Given the description of an element on the screen output the (x, y) to click on. 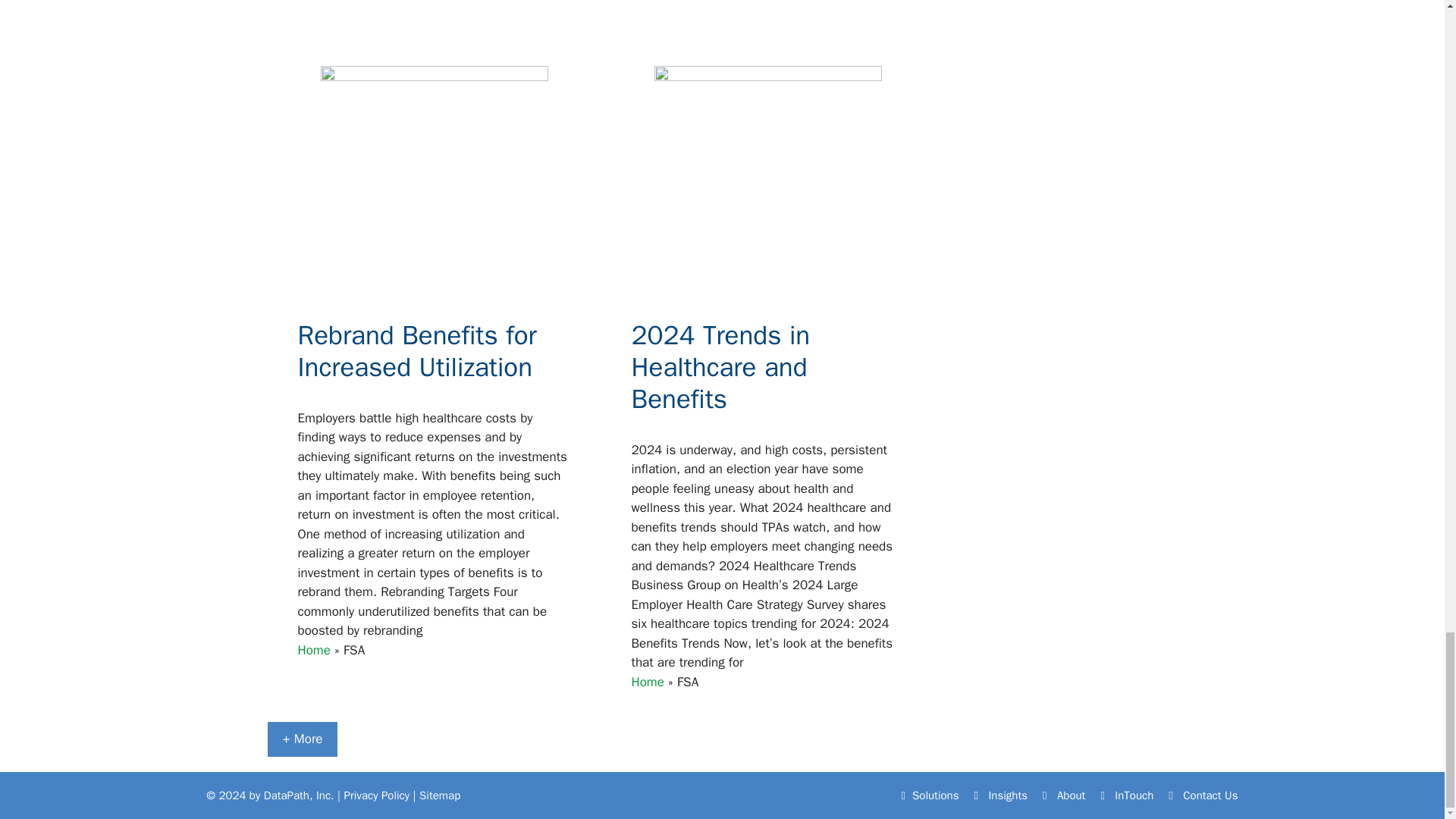
Home (646, 1)
